Given the description of an element on the screen output the (x, y) to click on. 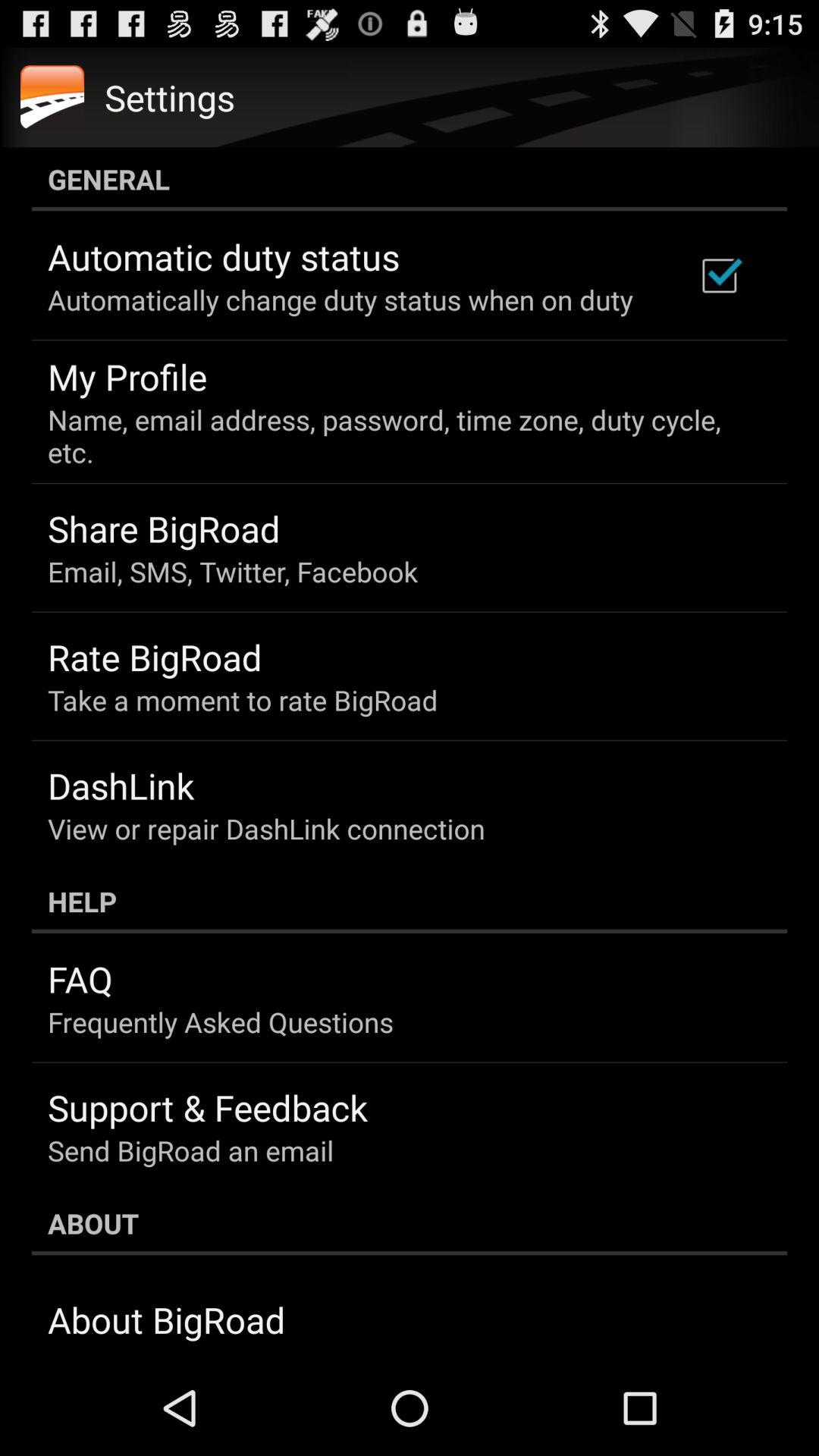
select general icon (409, 179)
